Given the description of an element on the screen output the (x, y) to click on. 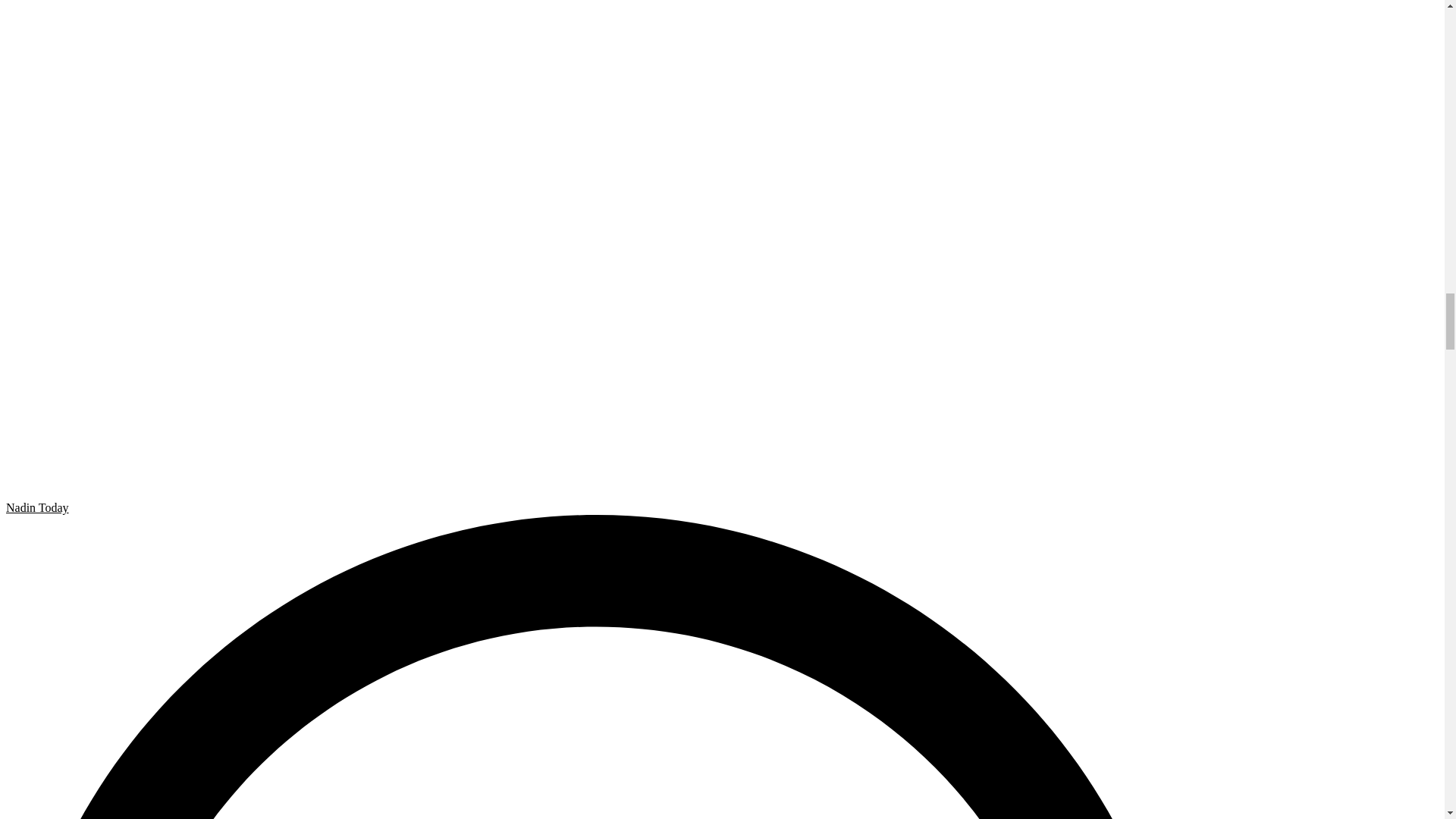
Nadin Today (36, 507)
Nadin Today (36, 507)
